Given the description of an element on the screen output the (x, y) to click on. 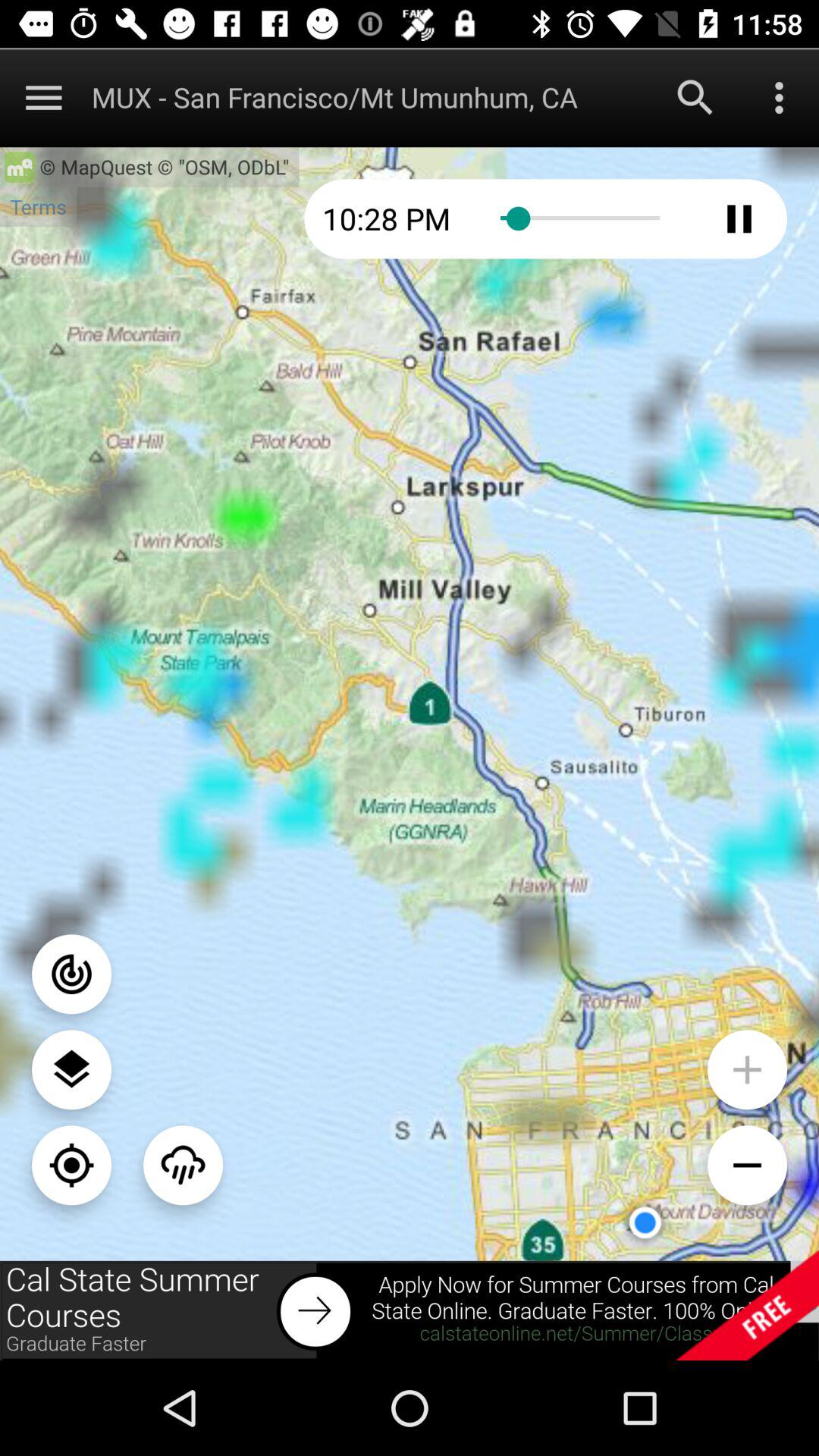
more settings (779, 97)
